Given the description of an element on the screen output the (x, y) to click on. 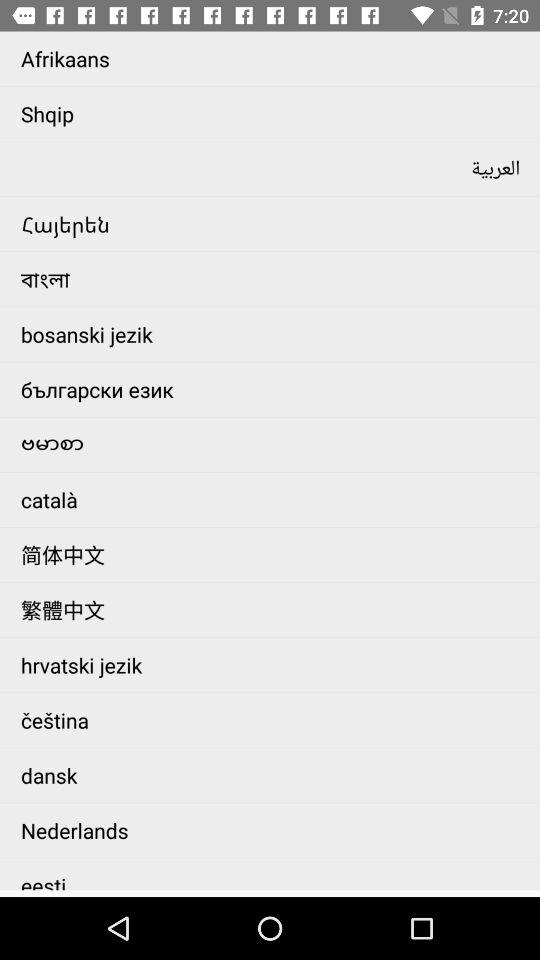
turn on app below the bosanski jezik item (275, 389)
